Given the description of an element on the screen output the (x, y) to click on. 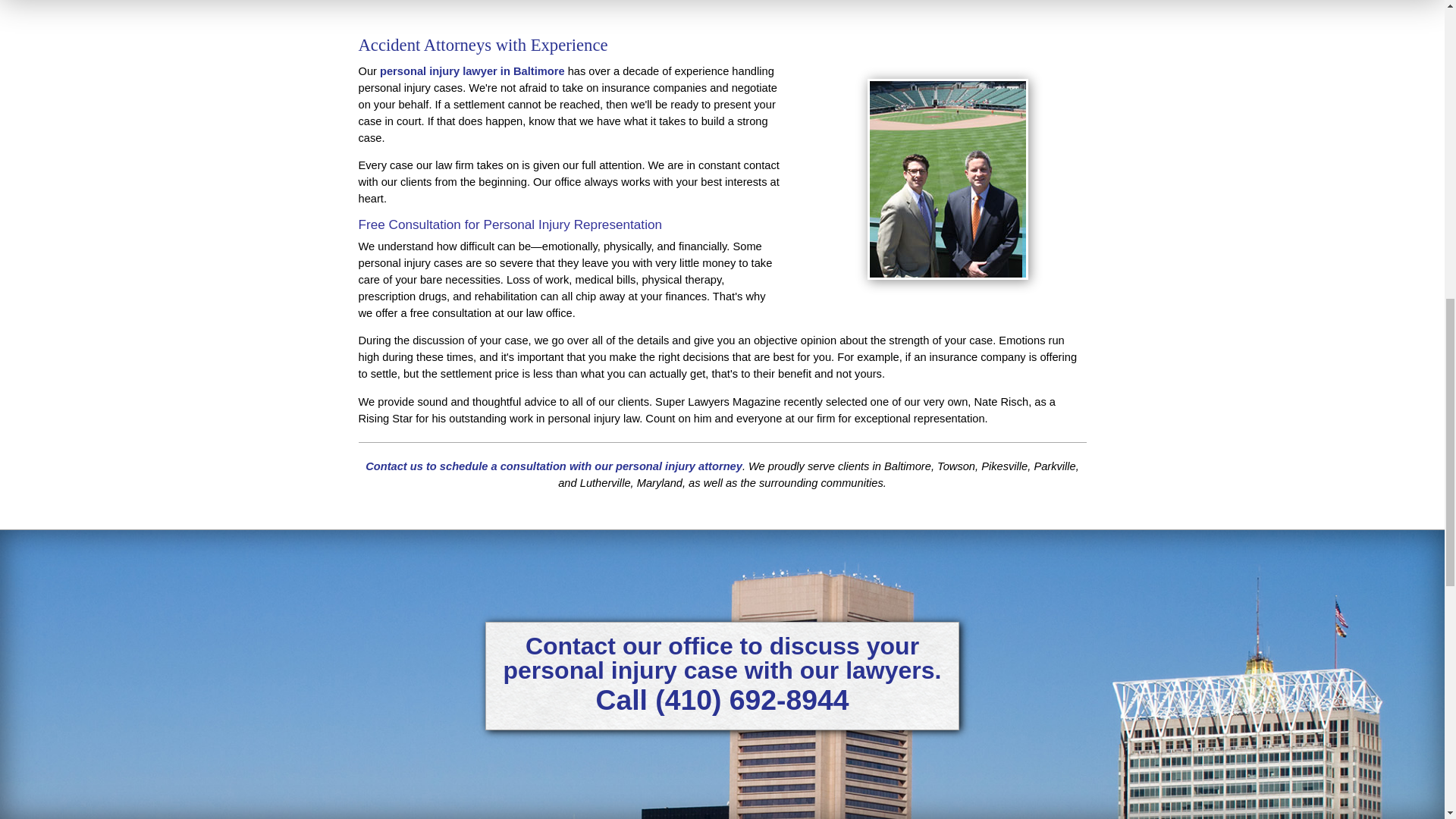
personal injury lawyer in Baltimore (472, 70)
